Given the description of an element on the screen output the (x, y) to click on. 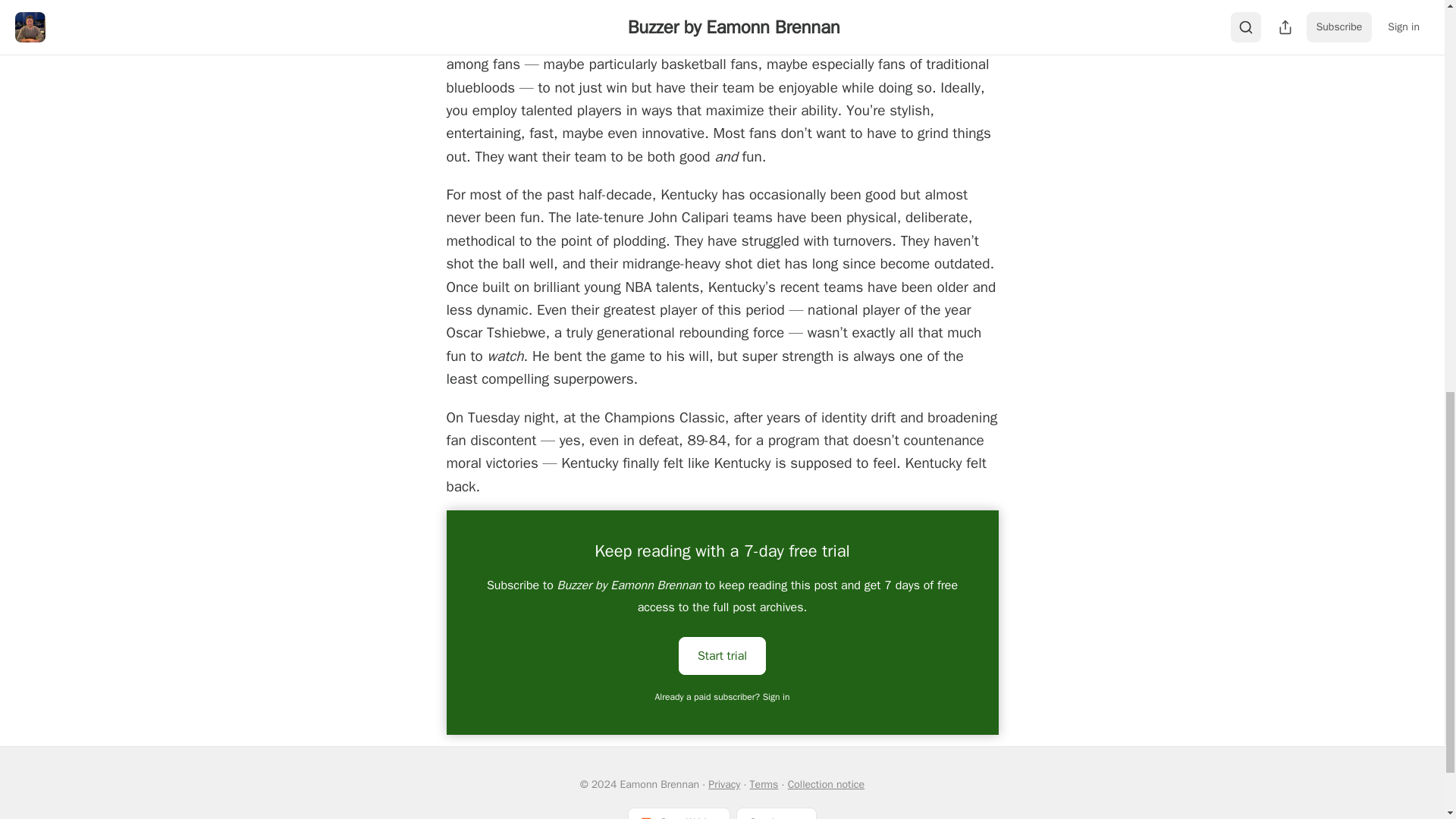
Start trial (721, 655)
Start Writing (678, 813)
Terms (763, 784)
Get the app (776, 813)
Collection notice (825, 784)
Already a paid subscriber? Sign in (722, 696)
Privacy (723, 784)
Start trial (721, 655)
